Given the description of an element on the screen output the (x, y) to click on. 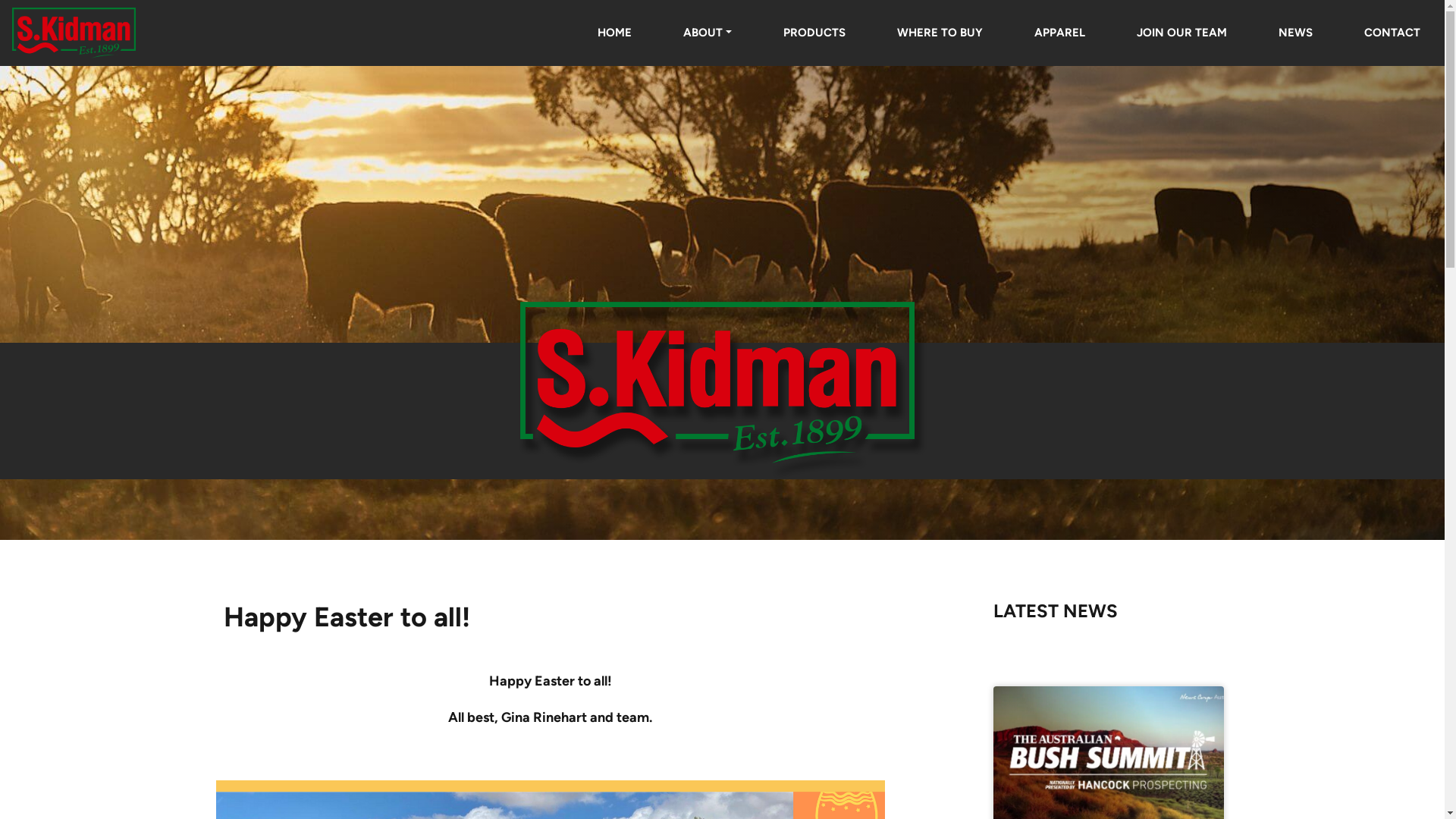
ABOUT Element type: text (707, 32)
WHERE TO BUY Element type: text (939, 32)
APPAREL Element type: text (1059, 32)
NEWS Element type: text (1295, 32)
JOIN OUR TEAM Element type: text (1181, 32)
HOME Element type: text (614, 32)
PRODUCTS Element type: text (814, 32)
CONTACT Element type: text (1391, 32)
